Given the description of an element on the screen output the (x, y) to click on. 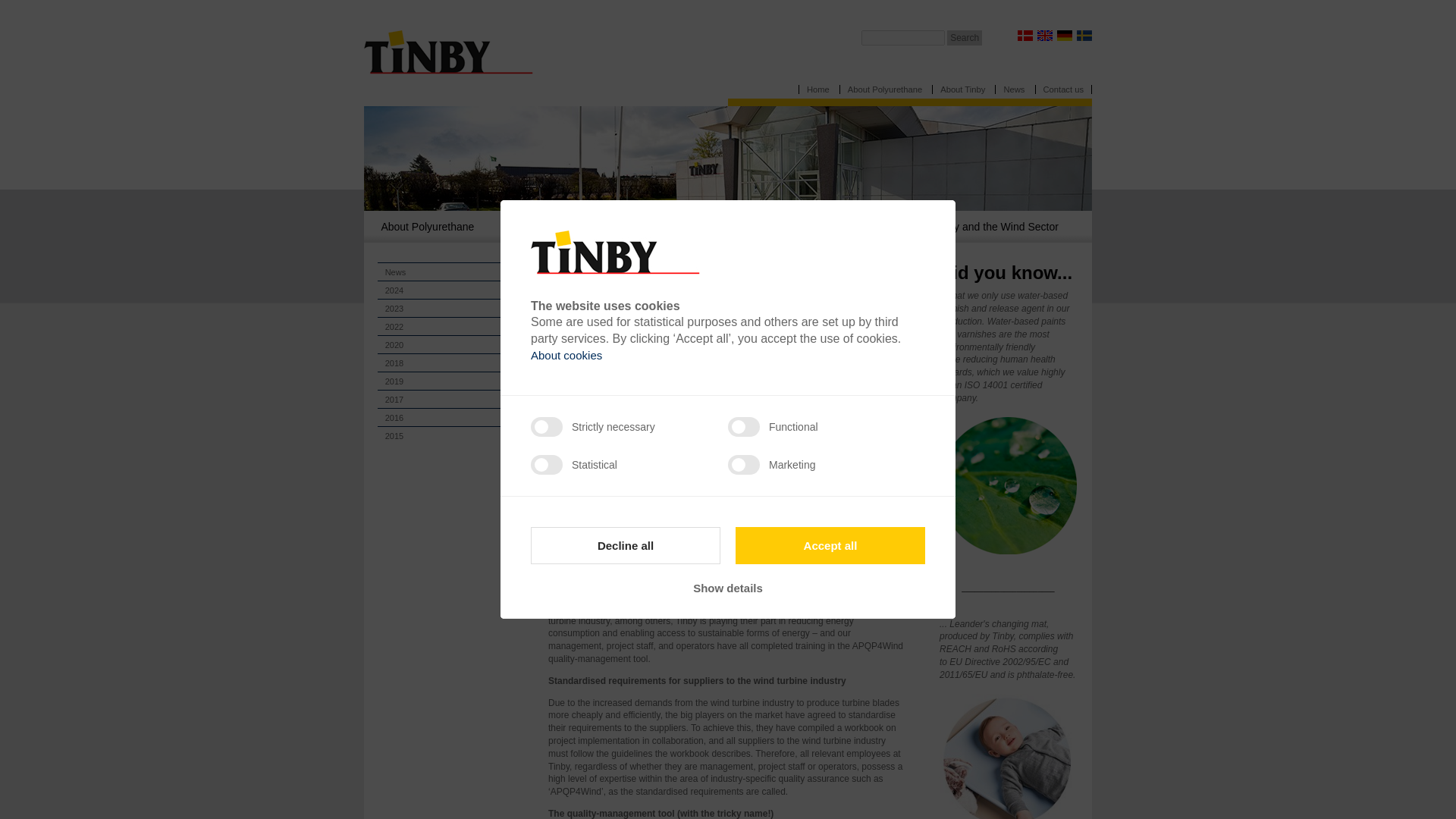
About cookies (566, 354)
Decline all (625, 545)
Accept all (829, 545)
Show details (727, 587)
